Given the description of an element on the screen output the (x, y) to click on. 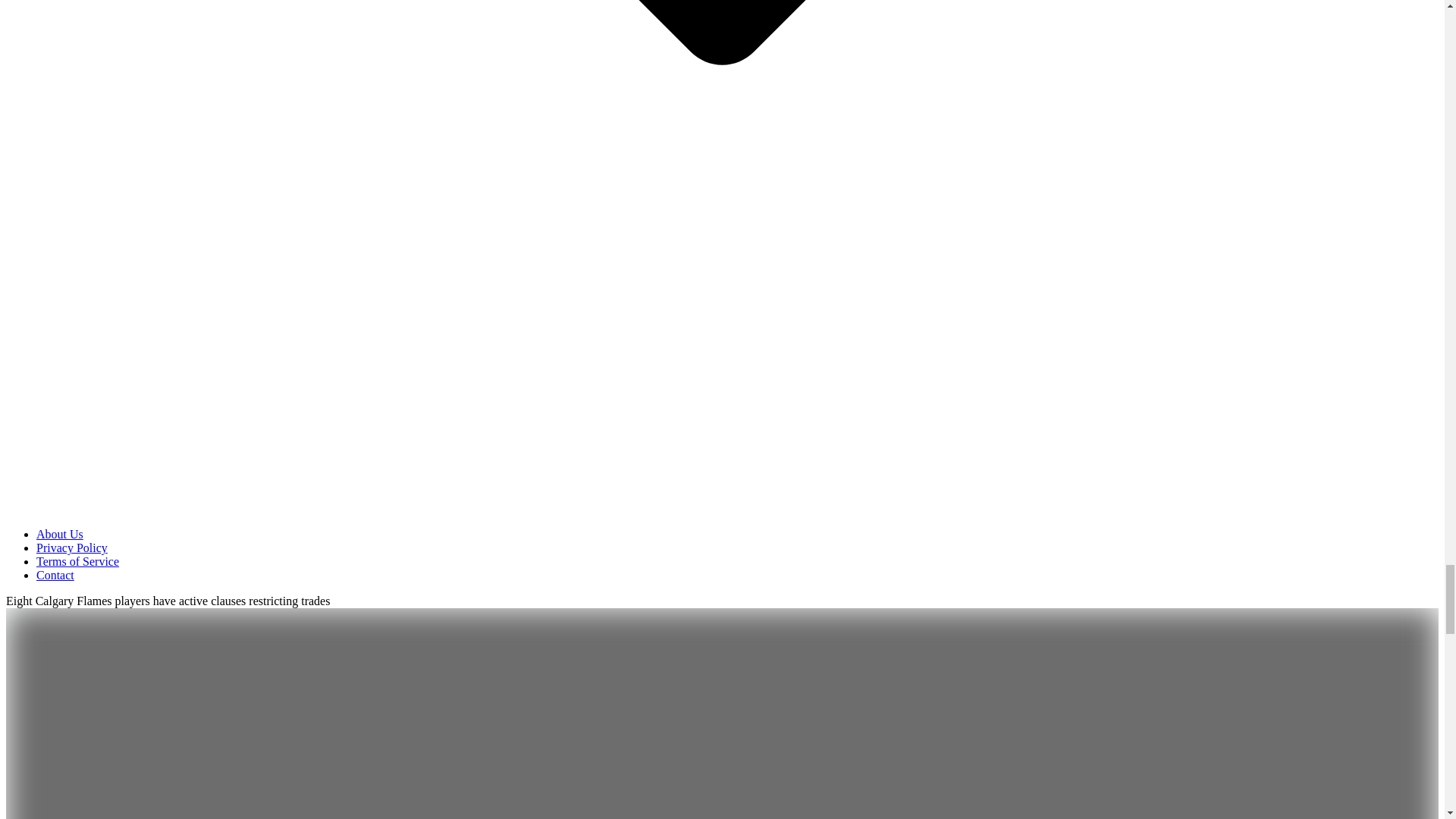
About Us (59, 533)
Contact (55, 574)
Privacy Policy (71, 547)
Terms of Service (77, 561)
